Given the description of an element on the screen output the (x, y) to click on. 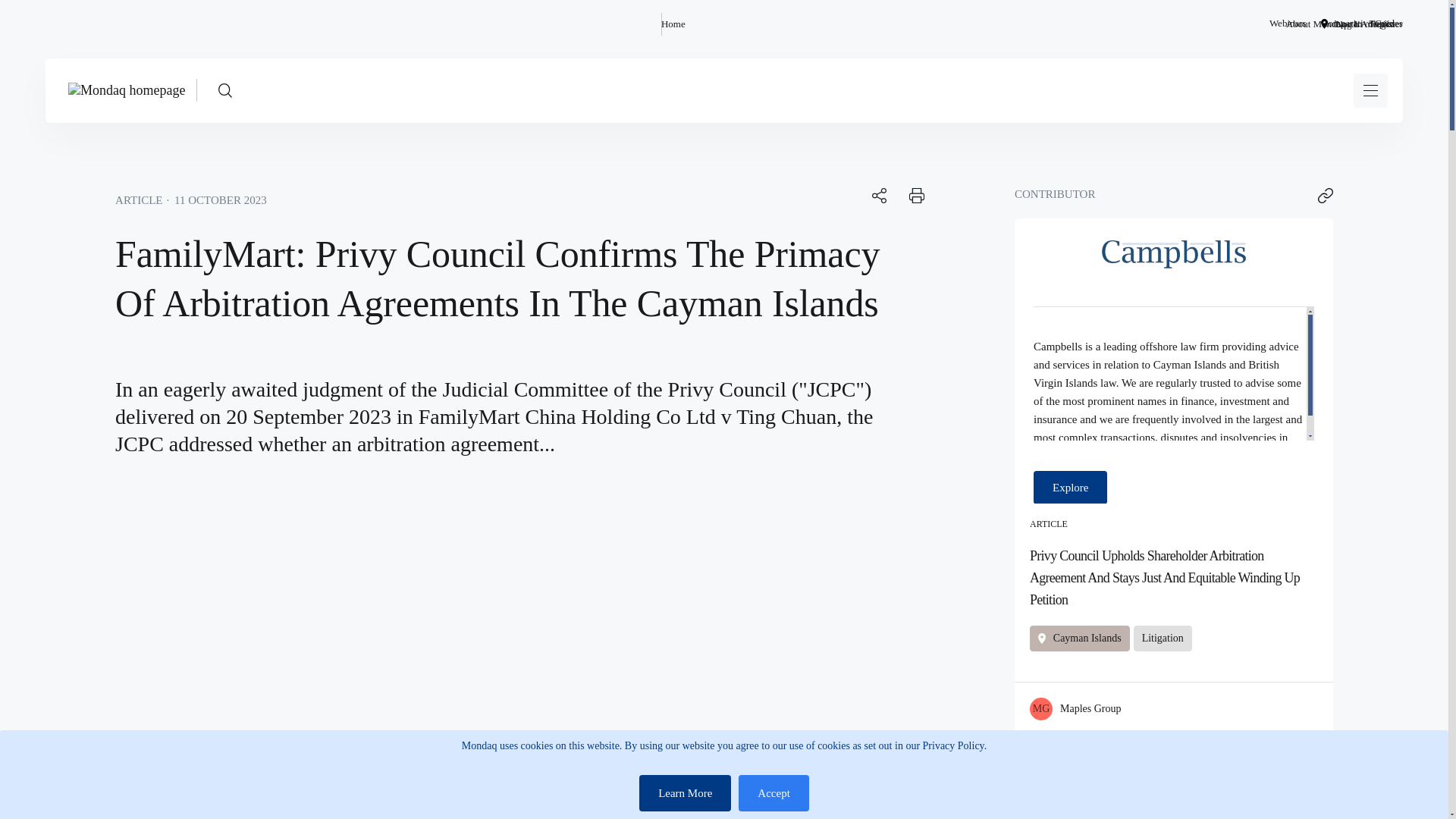
Webinars (1287, 23)
About Mondaq (1315, 24)
Comparative Guides (1362, 23)
Home (673, 24)
